Given the description of an element on the screen output the (x, y) to click on. 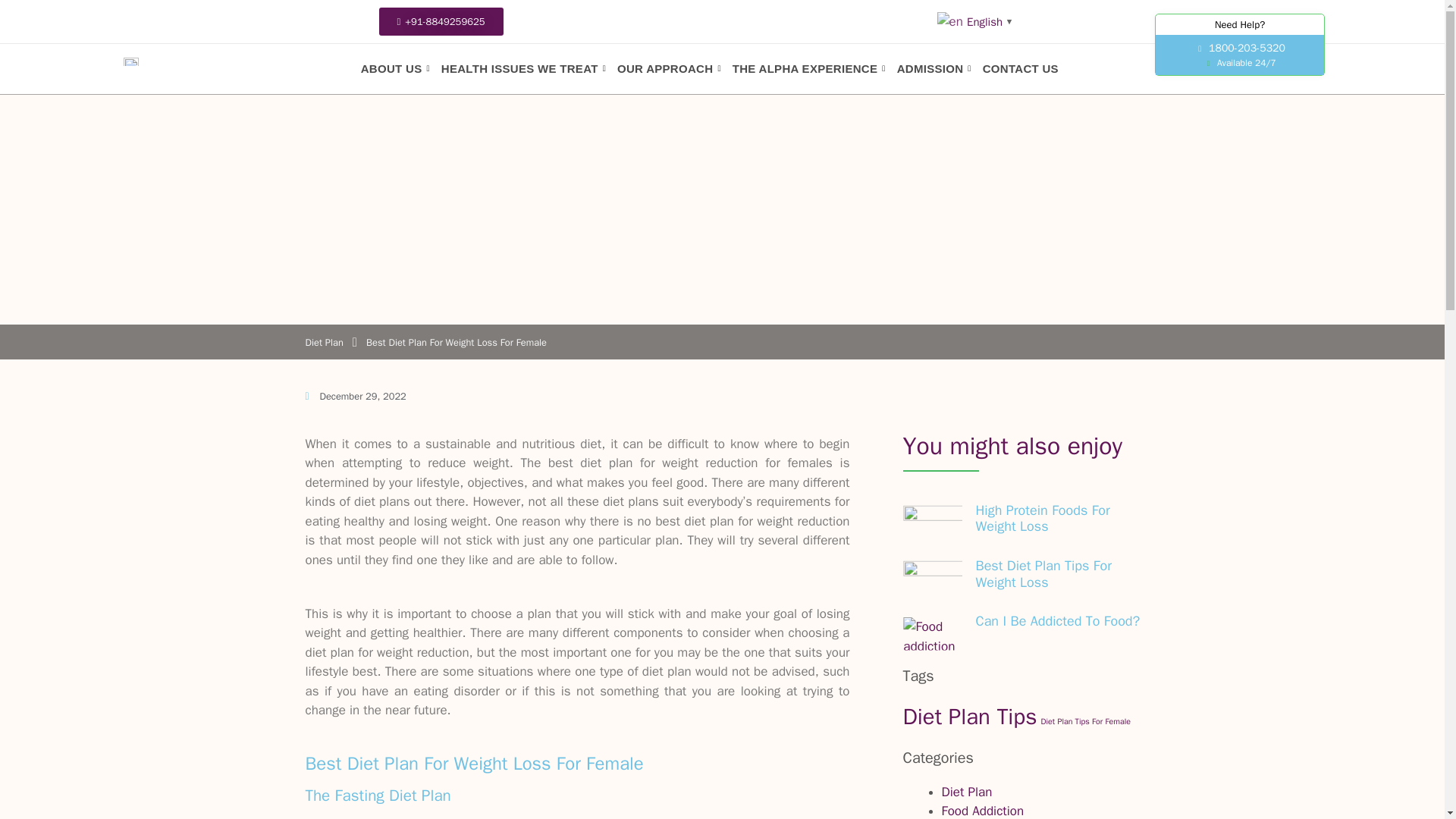
ABOUT US (395, 68)
OUR APPROACH (668, 68)
THE ALPHA EXPERIENCE (808, 68)
HEALTH ISSUES WE TREAT (523, 68)
